Given the description of an element on the screen output the (x, y) to click on. 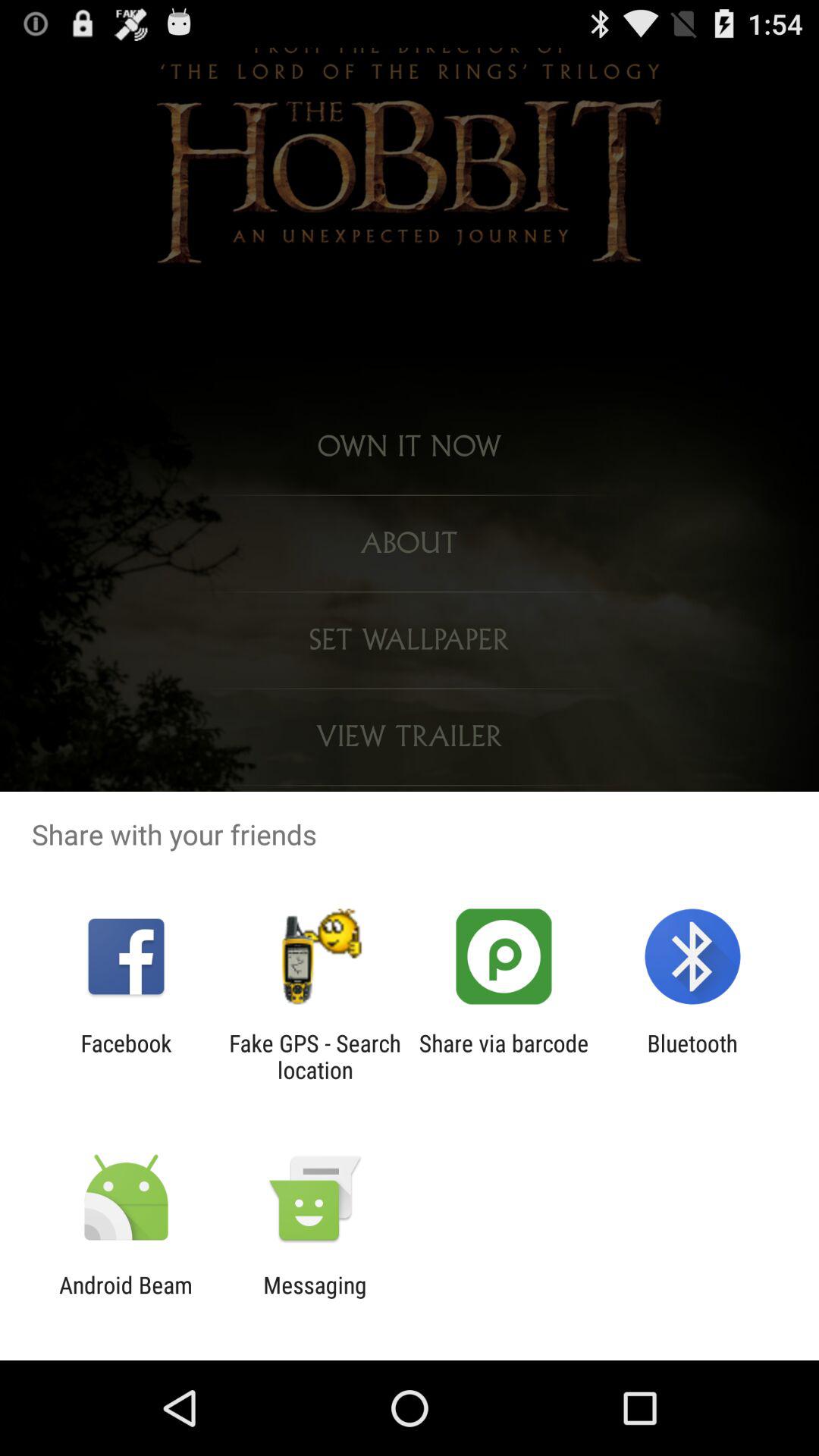
press the icon to the left of fake gps search icon (125, 1056)
